Given the description of an element on the screen output the (x, y) to click on. 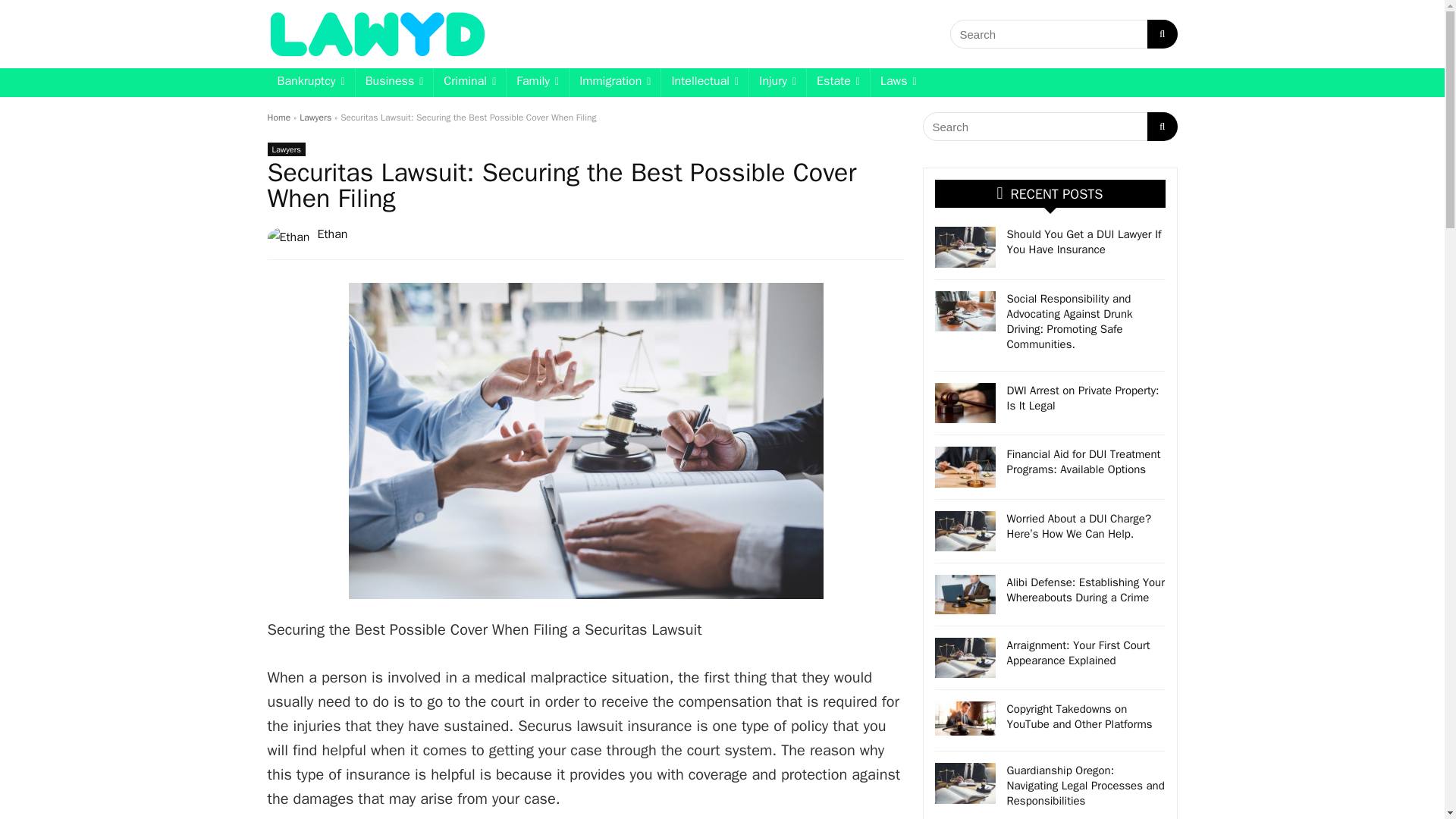
Criminal (469, 82)
Business (394, 82)
Intellectual (704, 82)
Immigration (615, 82)
View all posts in Lawyers (285, 149)
Family (537, 82)
Injury (777, 82)
Bankruptcy (309, 82)
